Given the description of an element on the screen output the (x, y) to click on. 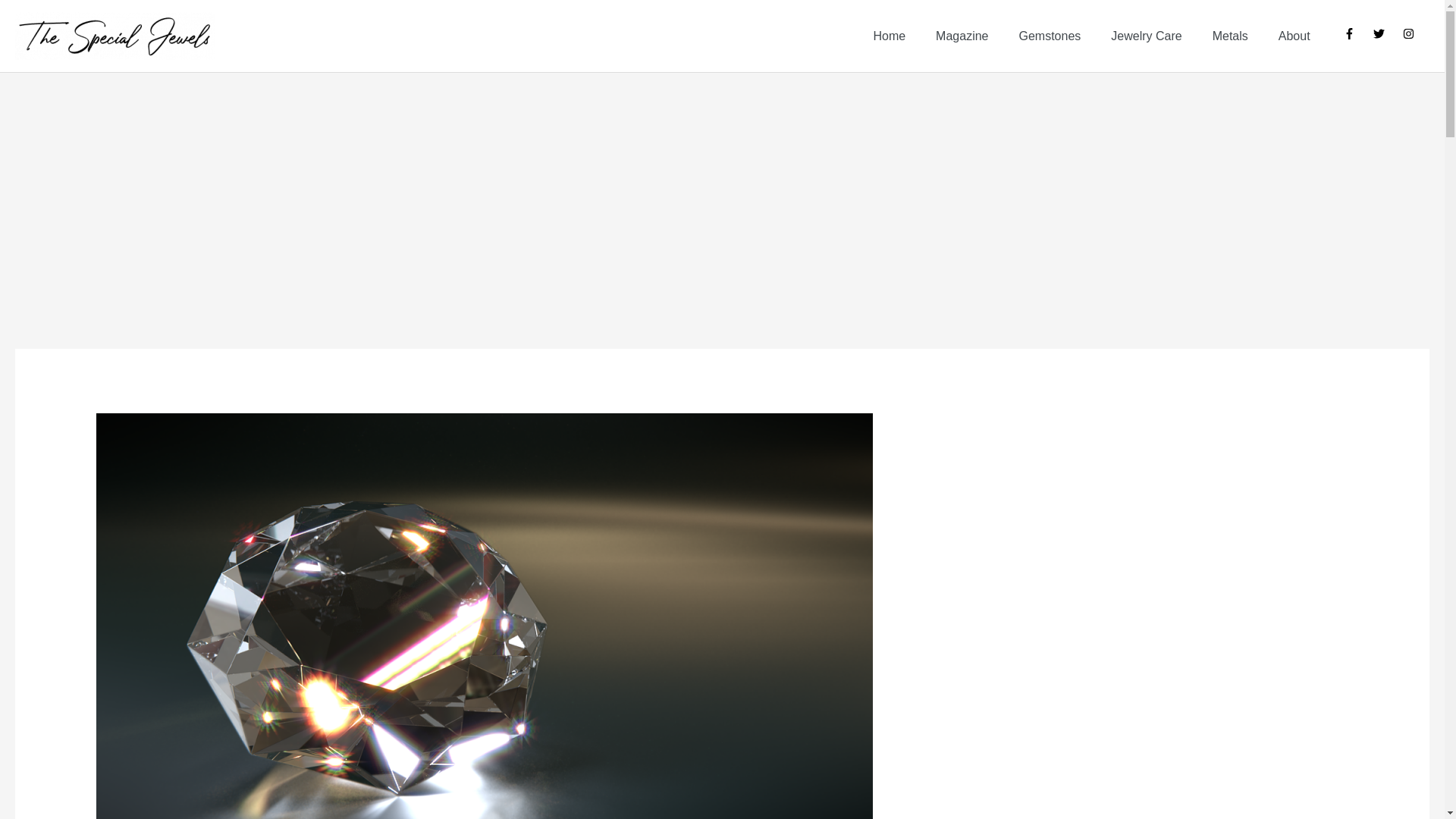
Jewelry Care (1146, 36)
Home (888, 36)
About (1293, 36)
Gemstones (1049, 36)
Metals (1229, 36)
Magazine (961, 36)
